Given the description of an element on the screen output the (x, y) to click on. 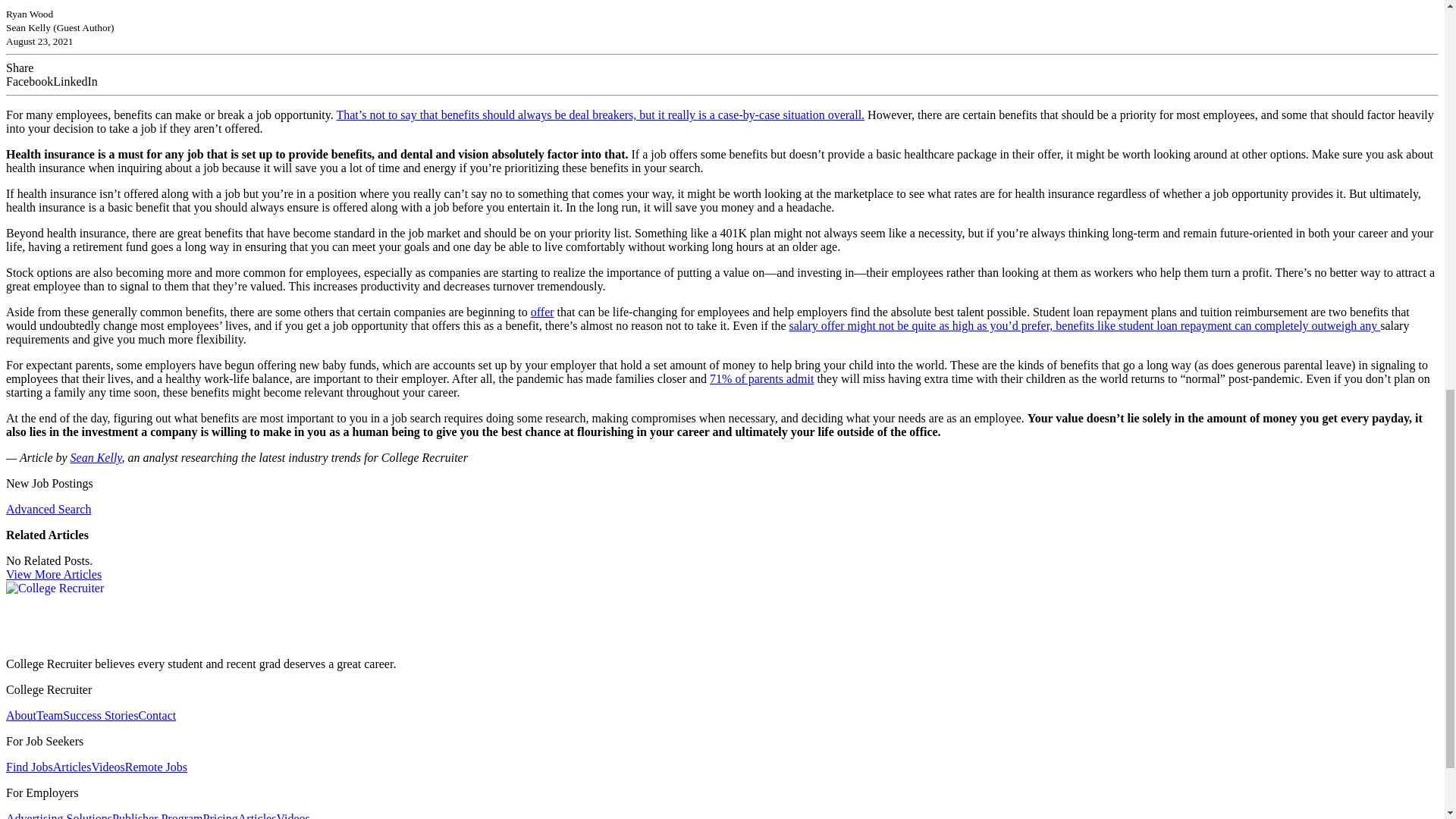
Advertising Solutions (58, 815)
Team (49, 715)
About (20, 715)
Articles (71, 766)
Success Stories (100, 715)
Videos (106, 766)
View More Articles (53, 574)
Facebook (28, 81)
Advanced Search (47, 508)
Publisher Program (157, 815)
